Given the description of an element on the screen output the (x, y) to click on. 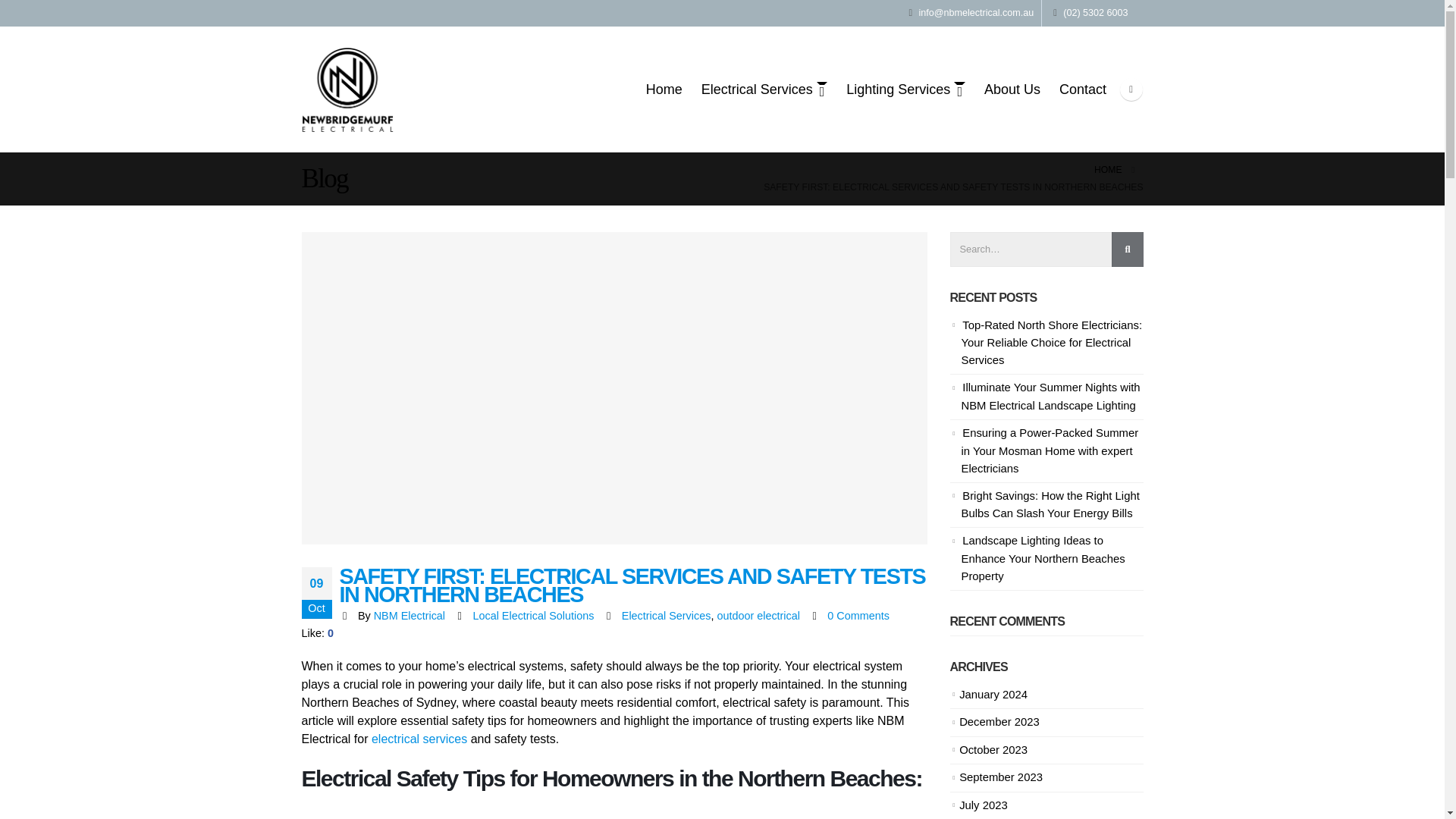
Home (664, 89)
Newbridgemurf Electrical -  (347, 89)
About Us (1012, 89)
Posts by NBM Electrical (409, 615)
Go to Home Page (1107, 170)
HOME (1107, 170)
0 Comments (858, 615)
Electrical Services (765, 89)
0 Comments (858, 615)
Contact (1082, 89)
NBM Electrical (409, 615)
electrical services (419, 738)
Lighting Services (905, 89)
Facebook (1130, 88)
Local Electrical Solutions (532, 615)
